Given the description of an element on the screen output the (x, y) to click on. 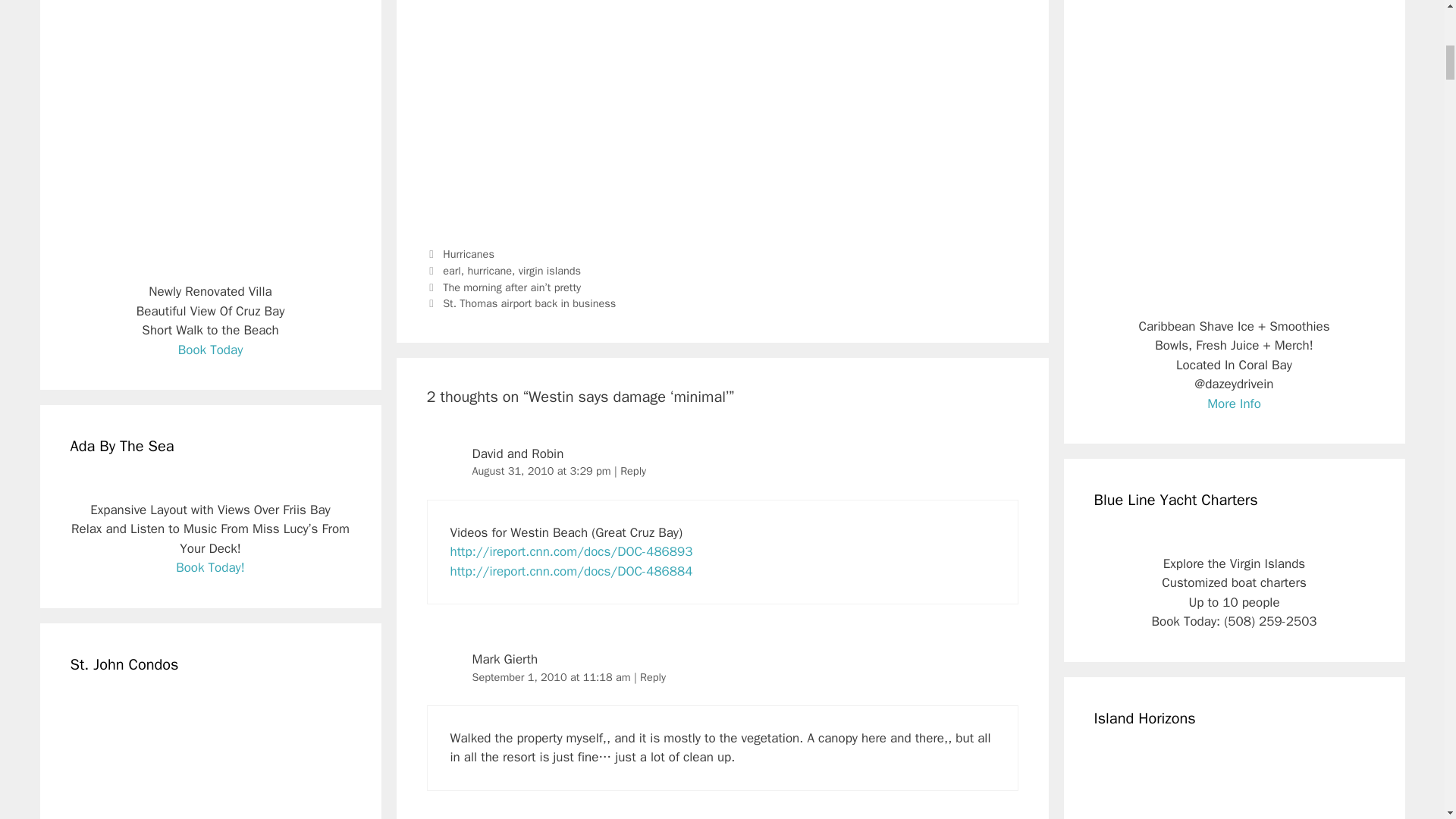
Advertisement (721, 118)
St. Thomas airport back in business (528, 303)
August 31, 2010 at 3:29 pm (542, 470)
Reply (633, 470)
Previous (503, 287)
hurricane (489, 270)
Hurricanes (468, 254)
Next (520, 303)
earl (451, 270)
virgin islands (549, 270)
